Given the description of an element on the screen output the (x, y) to click on. 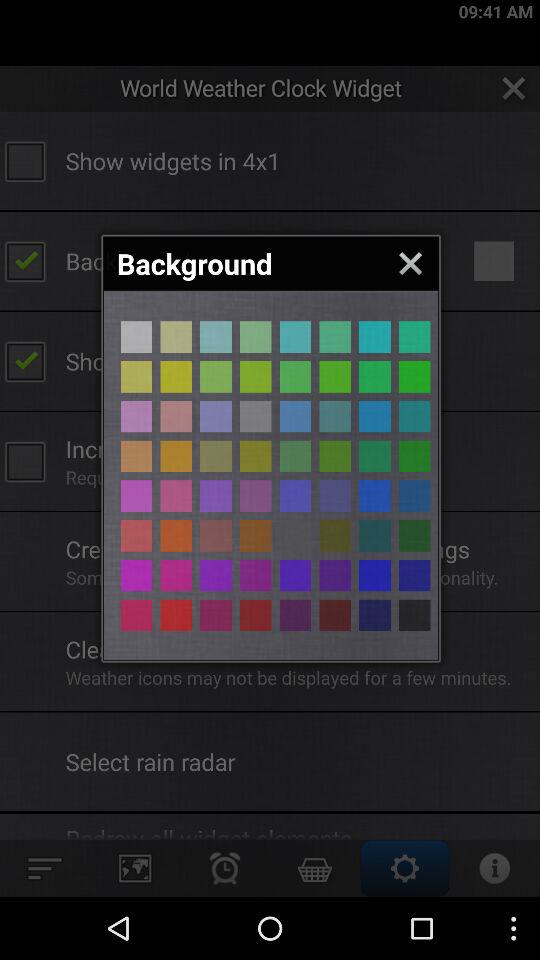
color selection (215, 575)
